Given the description of an element on the screen output the (x, y) to click on. 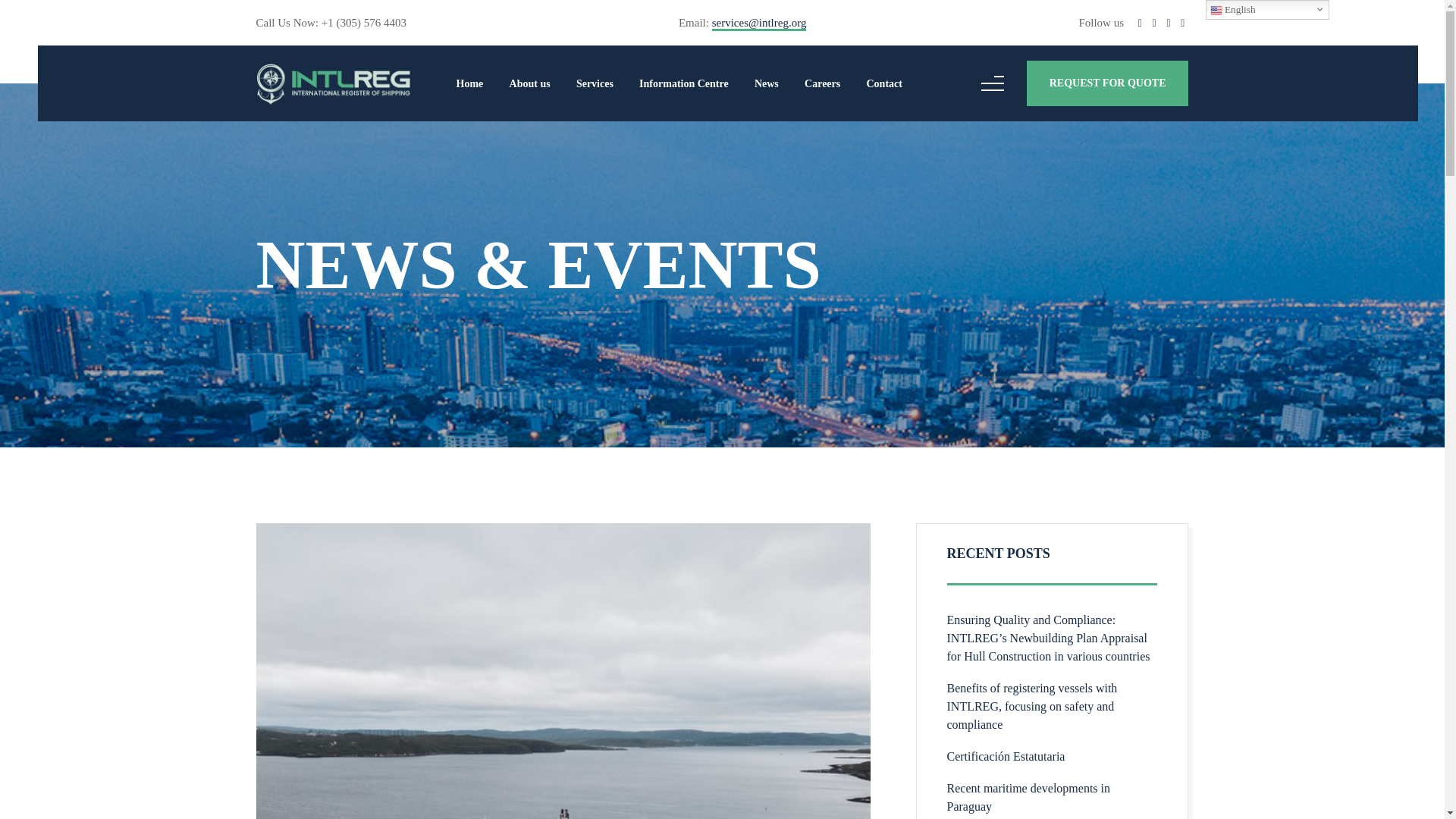
Home (470, 83)
Services (594, 83)
About us (529, 83)
